Given the description of an element on the screen output the (x, y) to click on. 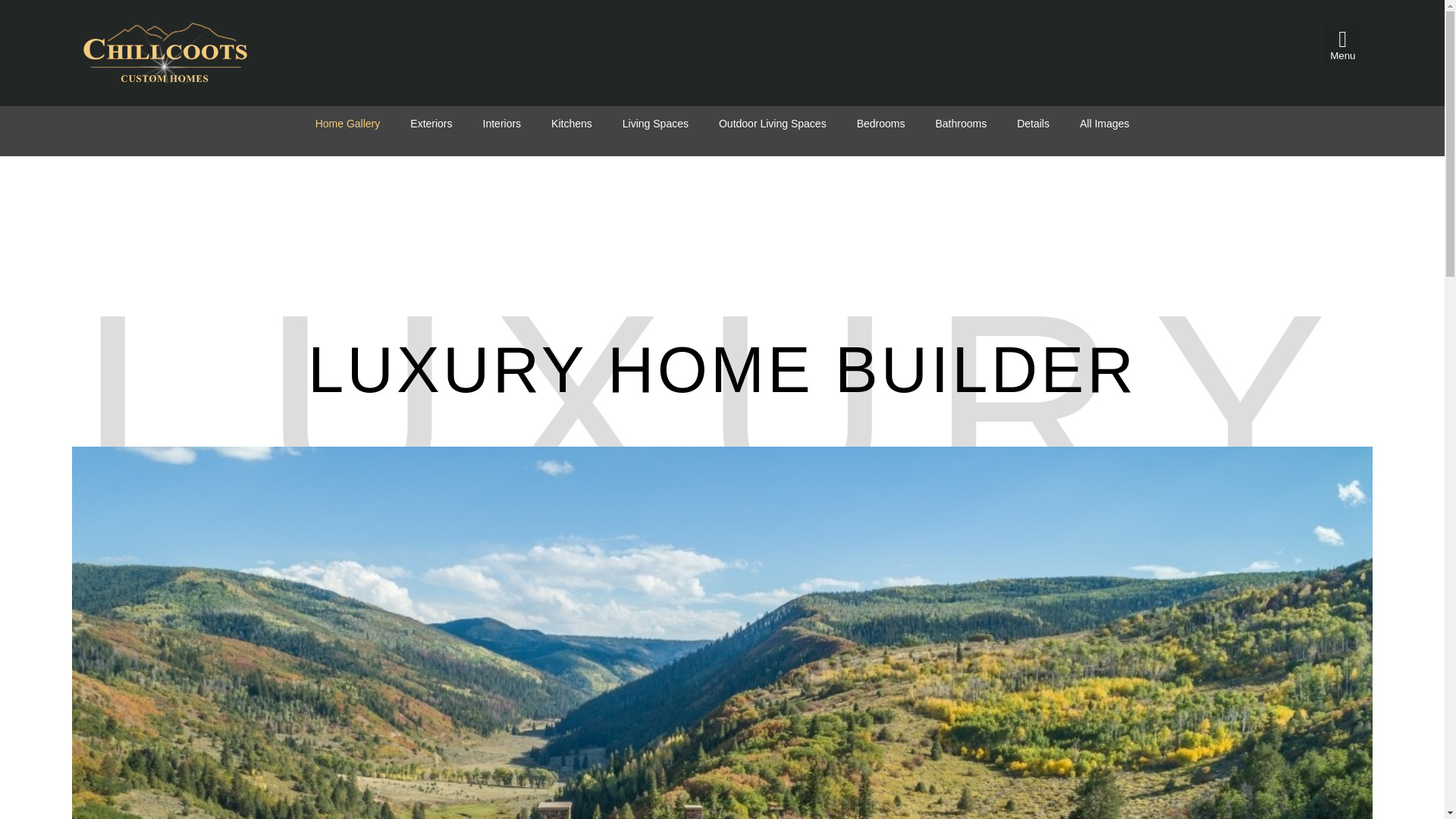
Bedrooms (880, 123)
Home Gallery (347, 123)
All Images (1104, 123)
Details (1032, 123)
Living Spaces (655, 123)
Kitchens (571, 123)
Outdoor Living Spaces (772, 123)
Interiors (502, 123)
Bathrooms (960, 123)
Exteriors (430, 123)
